Given the description of an element on the screen output the (x, y) to click on. 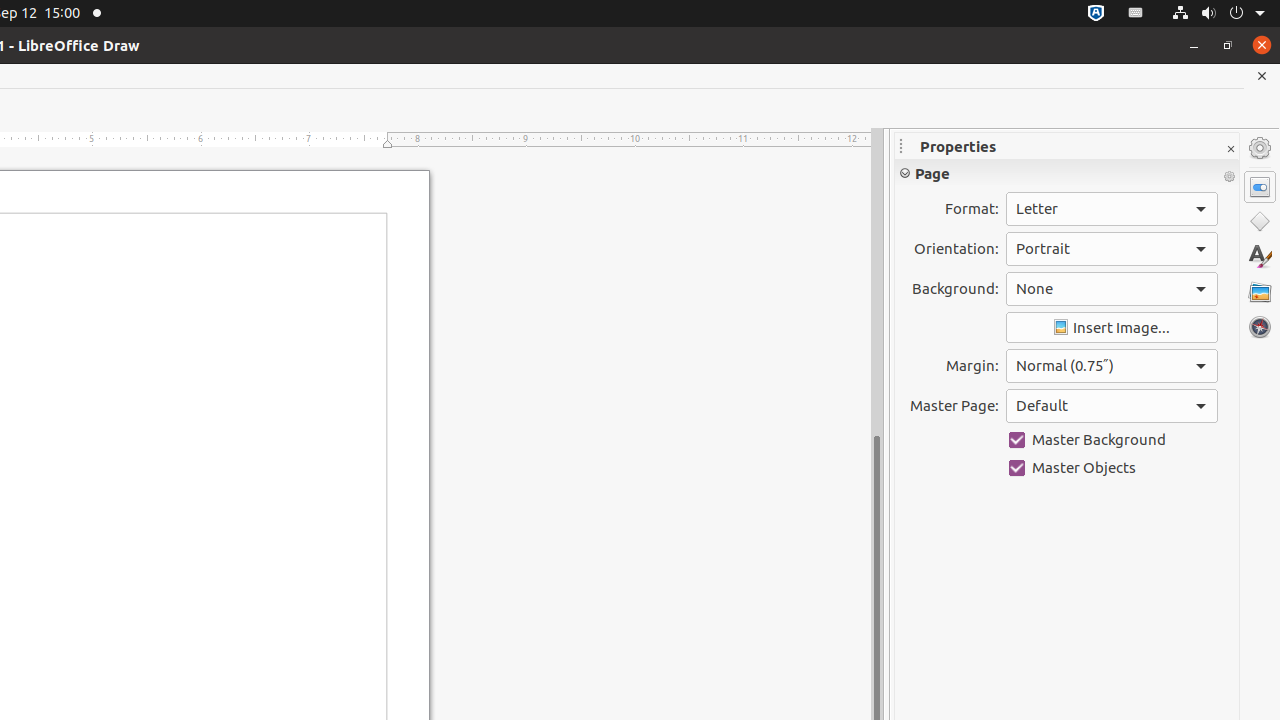
Styles Element type: radio-button (1260, 256)
:1.21/StatusNotifierItem Element type: menu (1136, 13)
